Given the description of an element on the screen output the (x, y) to click on. 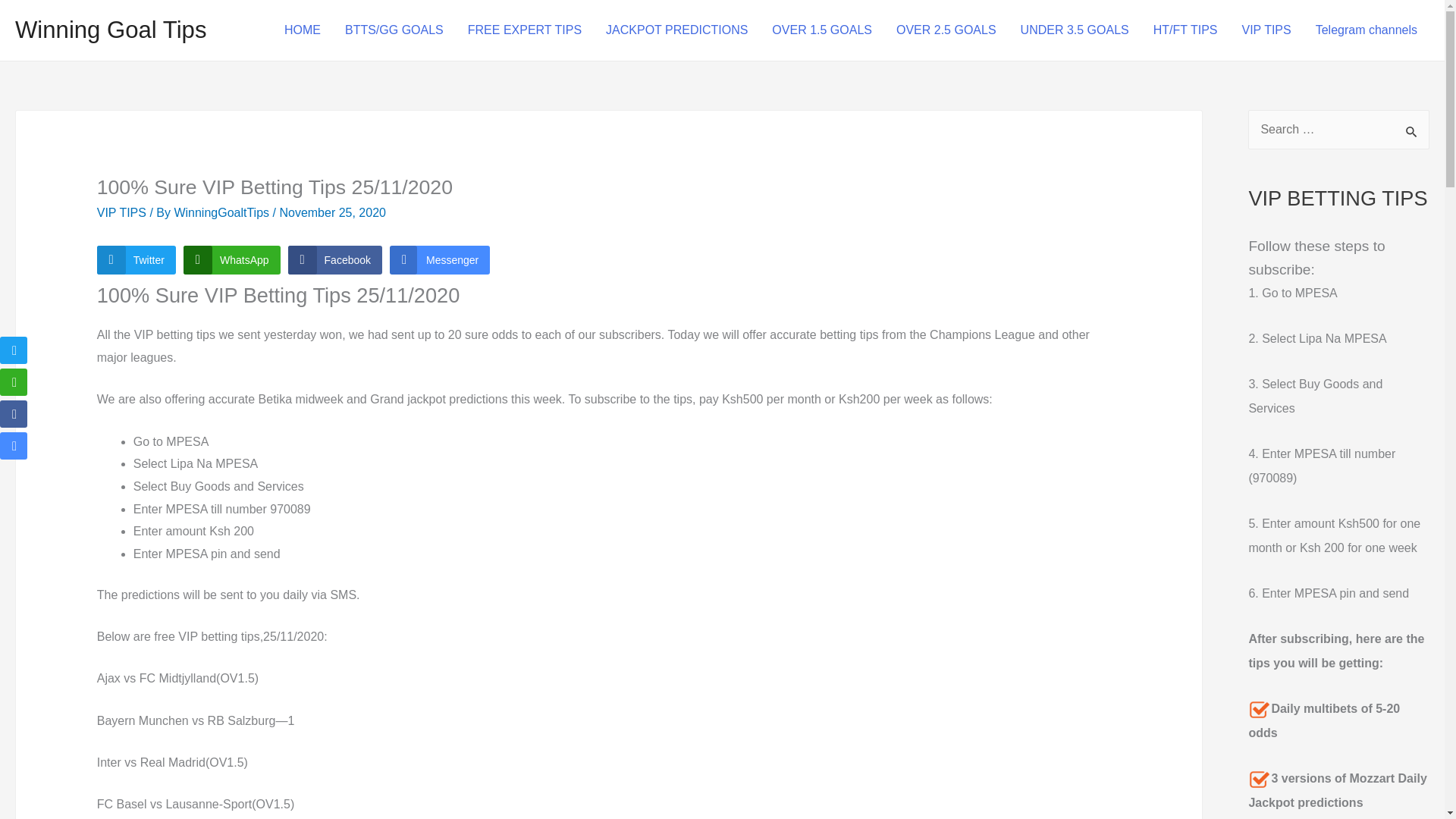
OVER 2.5 GOALS (946, 30)
OVER 1.5 GOALS (821, 30)
VIP TIPS (1265, 30)
FREE EXPERT TIPS (524, 30)
JACKPOT PREDICTIONS (677, 30)
HOME (302, 30)
Winning Goal Tips (110, 29)
View all posts by WinningGoaltTips (222, 212)
UNDER 3.5 GOALS (1075, 30)
Telegram channels (1366, 30)
